Given the description of an element on the screen output the (x, y) to click on. 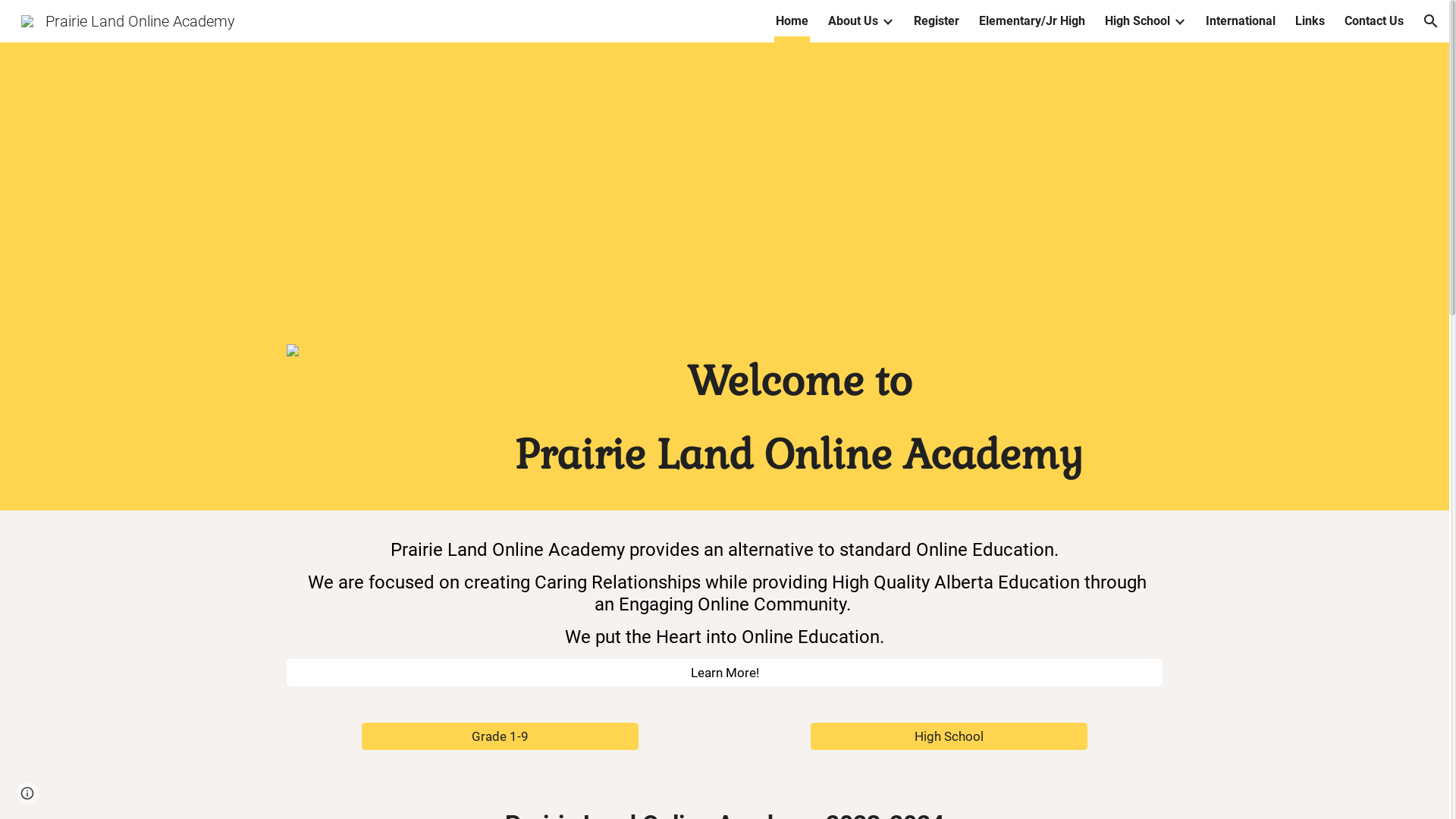
Contact Us Element type: text (1373, 20)
Register Element type: text (936, 20)
About Us Element type: text (853, 20)
Home Element type: text (791, 20)
Expand/Collapse Element type: hover (887, 20)
Expand/Collapse Element type: hover (1179, 20)
Elementary/Jr High Element type: text (1032, 20)
Grade 1-9 Element type: text (499, 736)
Links Element type: text (1309, 20)
Prairie Land Online Academy Element type: text (128, 19)
Learn More! Element type: text (724, 672)
High School Element type: text (1137, 20)
International Element type: text (1240, 20)
High School Element type: text (948, 736)
